Given the description of an element on the screen output the (x, y) to click on. 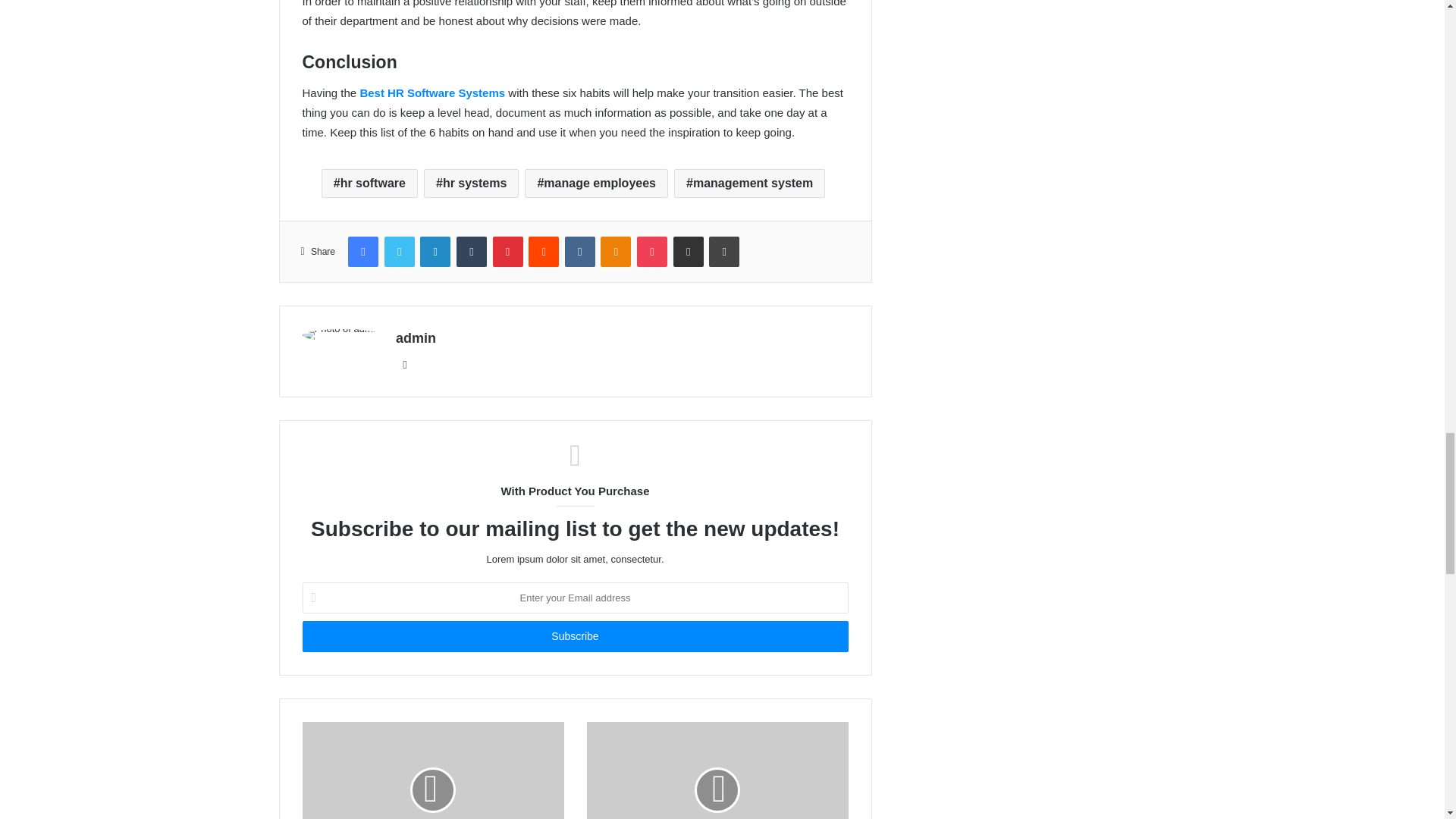
manage employees (596, 183)
Best HR Software Systems (432, 92)
Subscribe (574, 635)
hr systems (470, 183)
management system (749, 183)
hr software (369, 183)
